Given the description of an element on the screen output the (x, y) to click on. 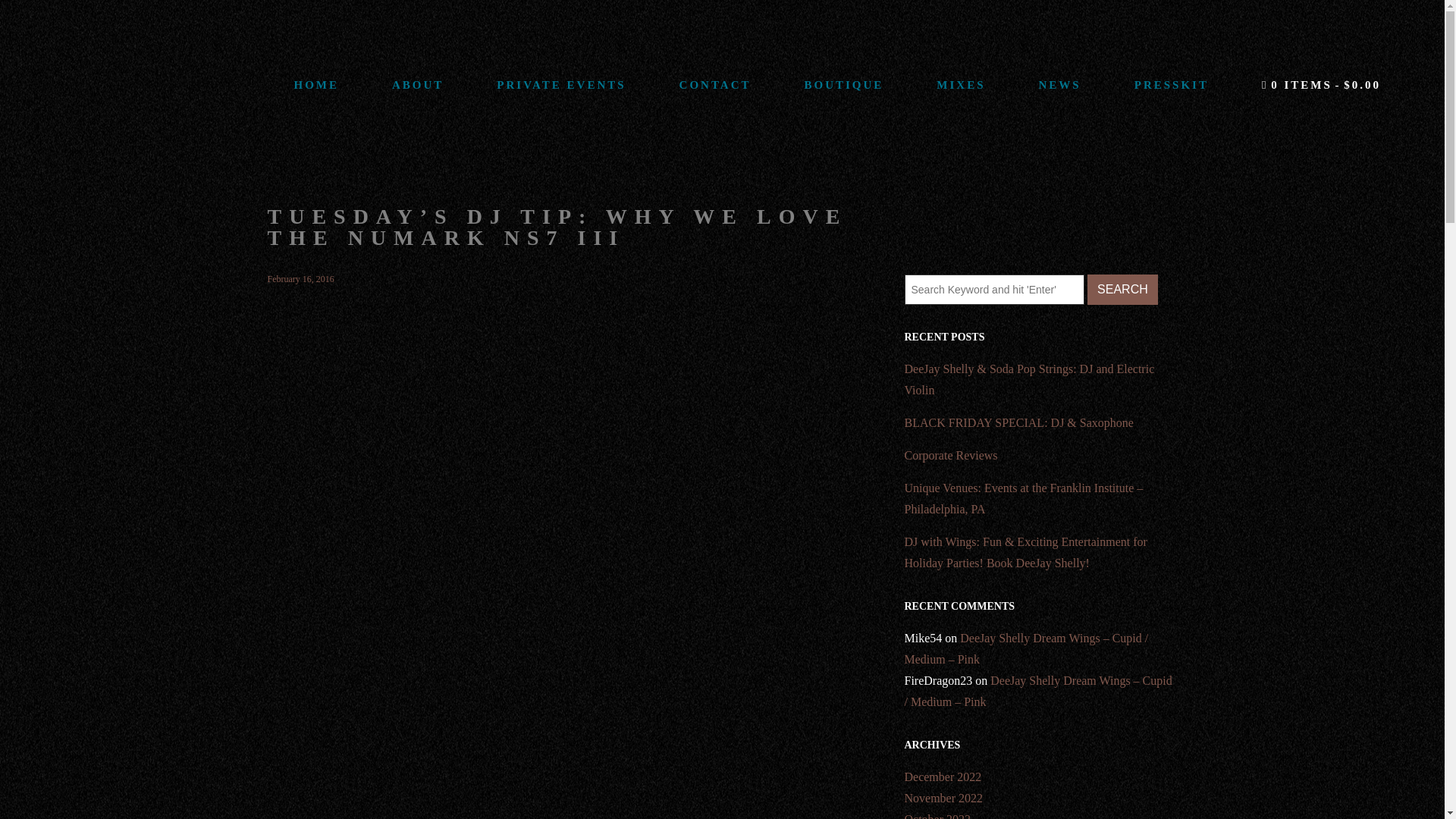
ABOUT (417, 84)
Search (1122, 289)
Start shopping (1320, 84)
Search (1122, 289)
BOUTIQUE (843, 84)
NEWS (1060, 84)
CONTACT (715, 84)
Search (1122, 289)
Corporate Reviews (1040, 455)
PRIVATE EVENTS (560, 84)
HOME (316, 84)
PRESSKIT (1171, 84)
MIXES (959, 84)
